Given the description of an element on the screen output the (x, y) to click on. 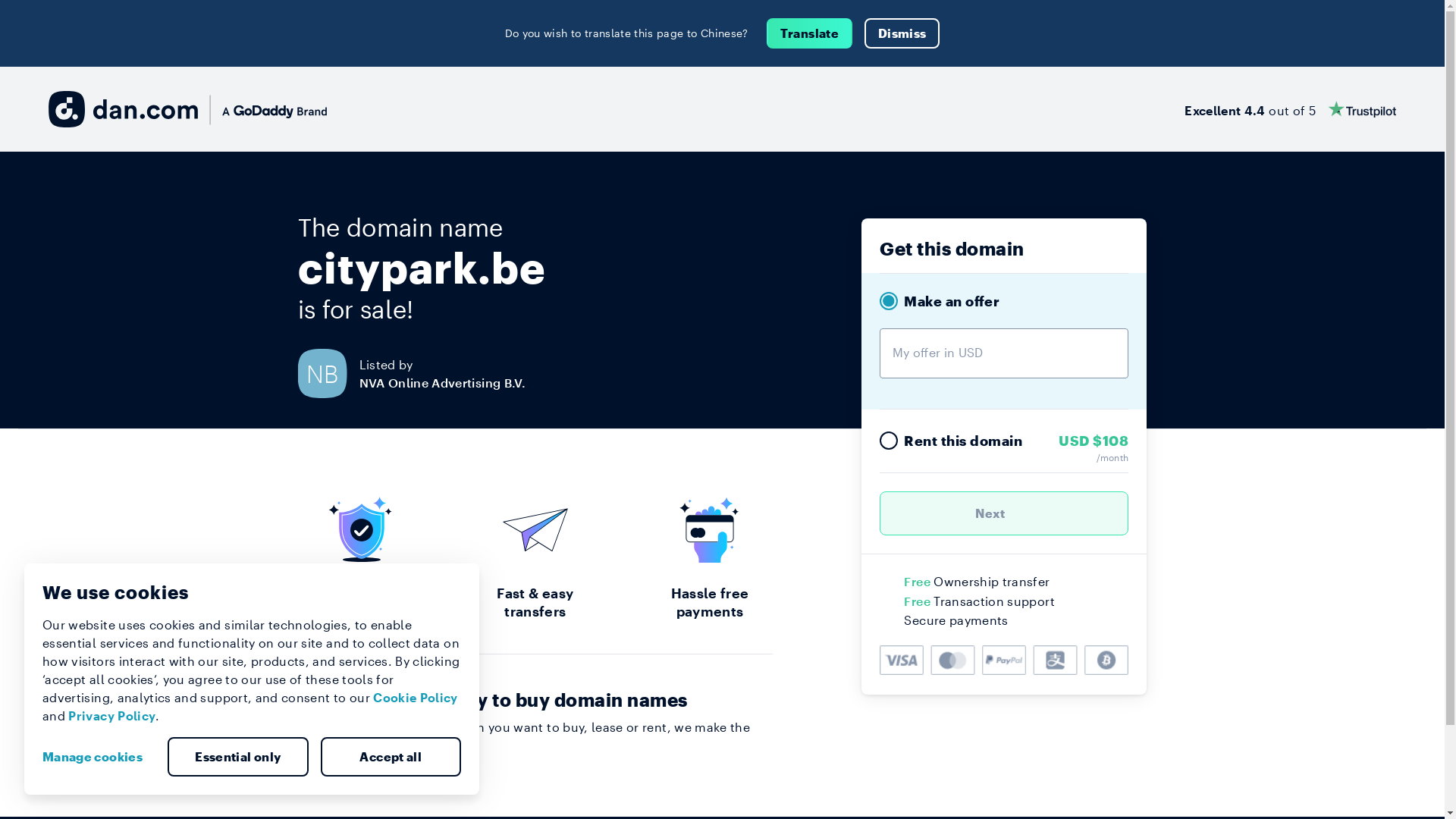
Next
) Element type: text (1003, 513)
Privacy Policy Element type: text (111, 715)
Translate Element type: text (809, 33)
Excellent 4.4 out of 5 Element type: text (1290, 109)
Cookie Policy Element type: text (415, 697)
Accept all Element type: text (390, 756)
Essential only Element type: text (237, 756)
Manage cookies Element type: text (98, 756)
Dismiss Element type: text (901, 33)
